Given the description of an element on the screen output the (x, y) to click on. 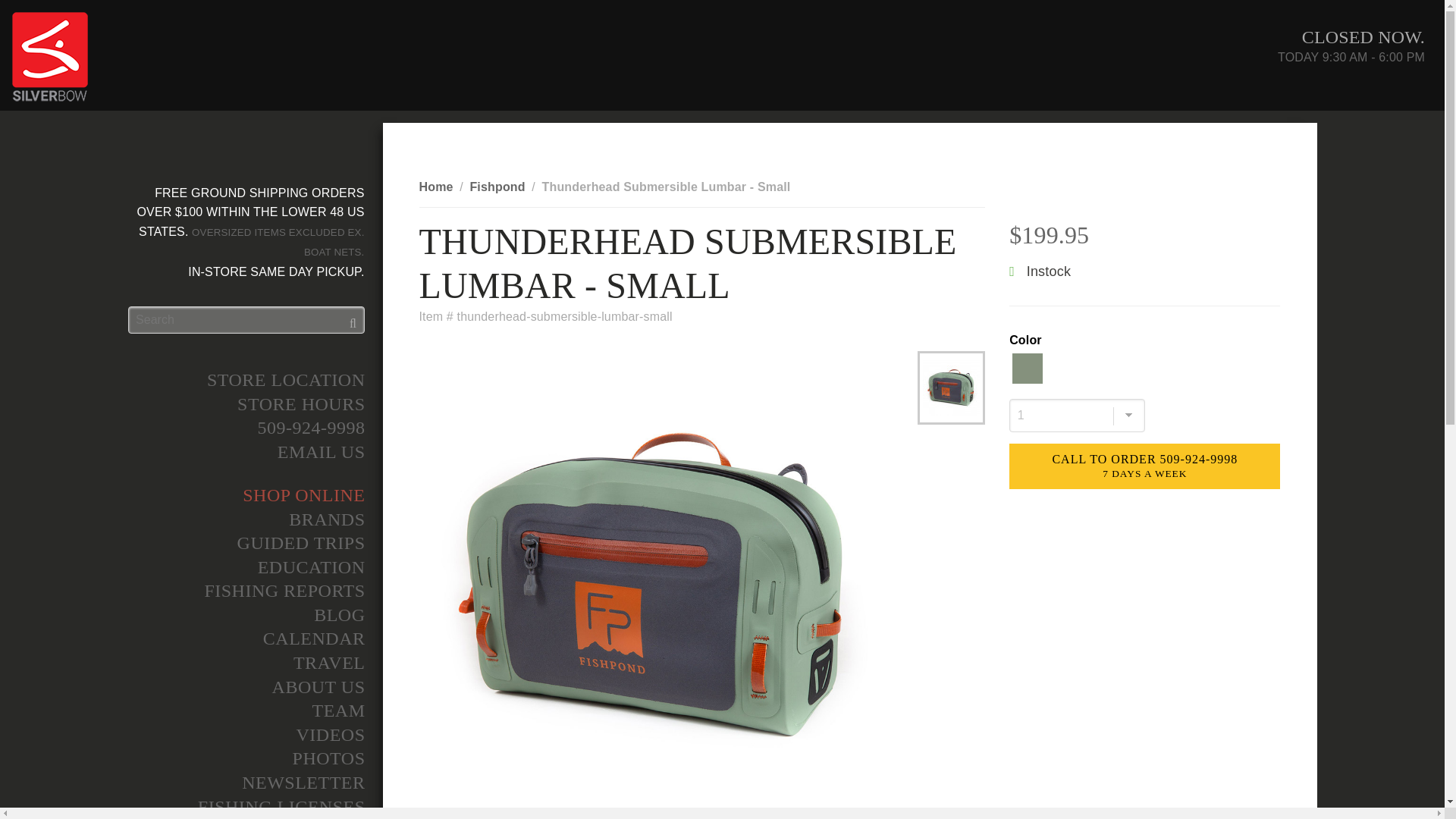
STORE HOURS (245, 404)
SHOP ONLINE (245, 495)
Yucca (1026, 368)
STORE LOCATION (245, 380)
EMAIL US (245, 452)
509-924-9998 (245, 428)
Call to Order 509-924-9998 (1144, 465)
Thunderhead Submersible Lumbar - Small 4.5 L (951, 388)
